Given the description of an element on the screen output the (x, y) to click on. 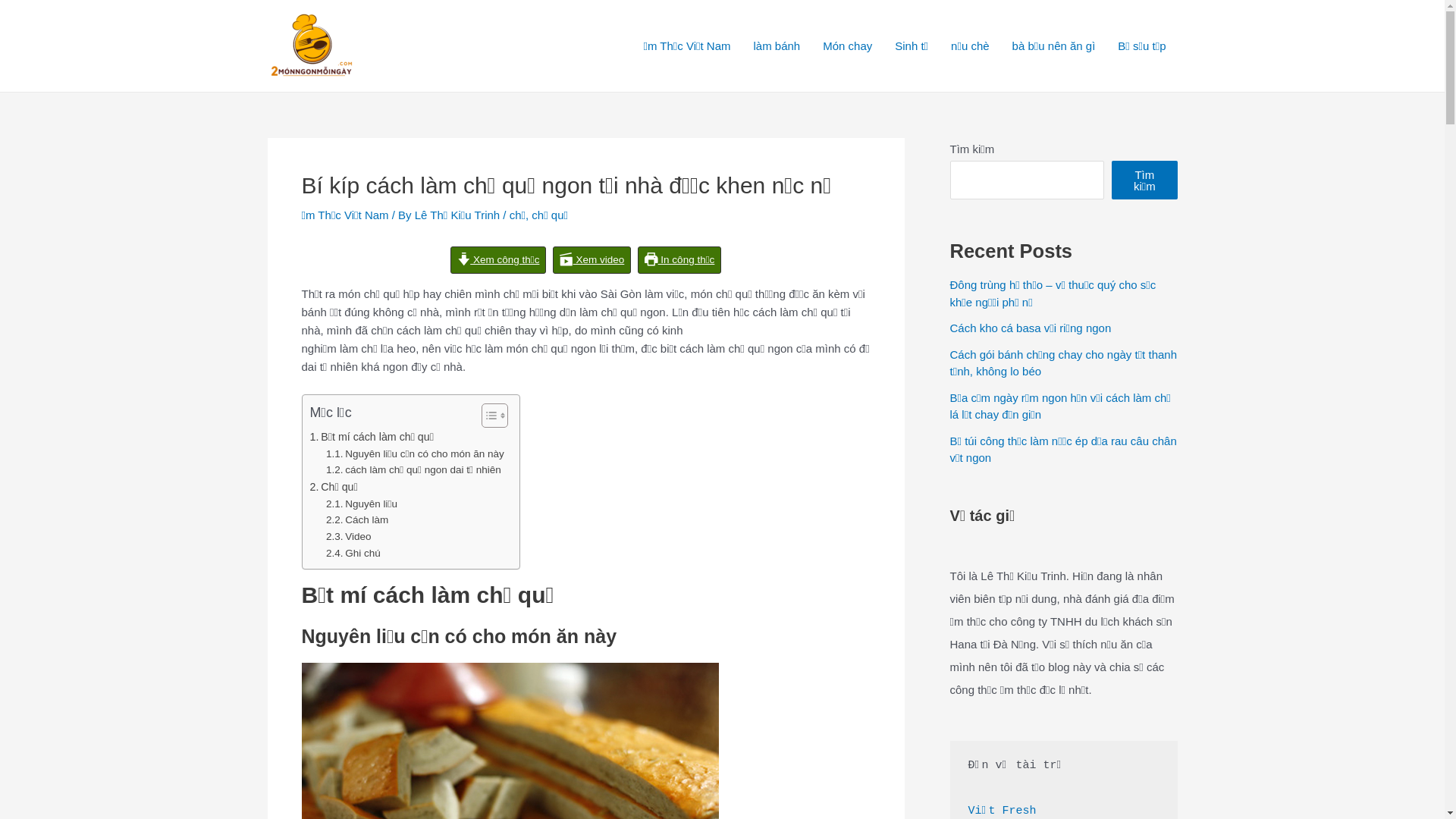
Video Element type: text (348, 536)
Xem video Element type: text (591, 259)
